Given the description of an element on the screen output the (x, y) to click on. 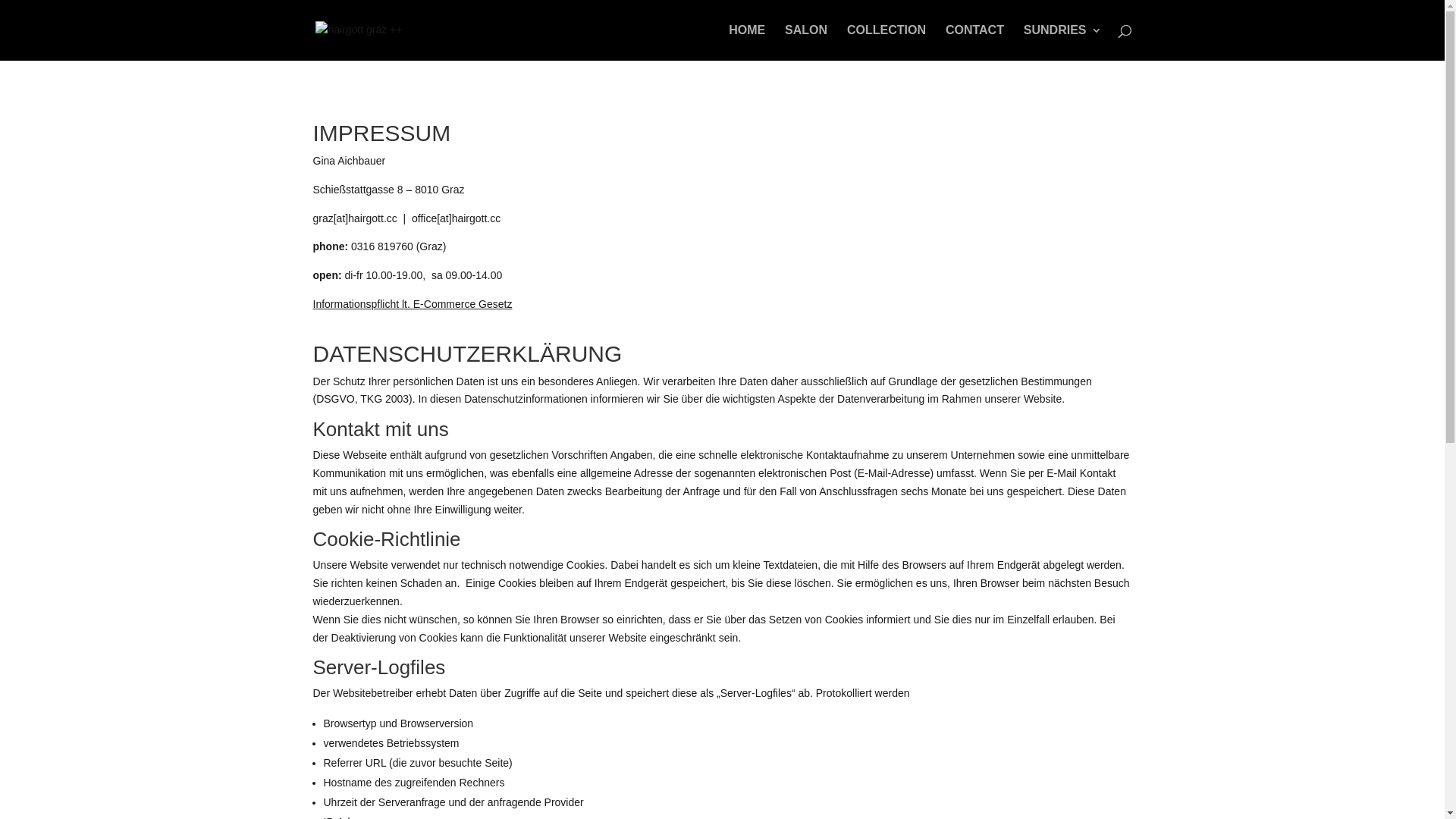
SALON Element type: text (805, 42)
CONTACT Element type: text (974, 42)
SUNDRIES Element type: text (1062, 42)
COLLECTION Element type: text (886, 42)
HOME Element type: text (746, 42)
Informationspflicht lt. E-Commerce Gesetz Element type: text (411, 304)
